Given the description of an element on the screen output the (x, y) to click on. 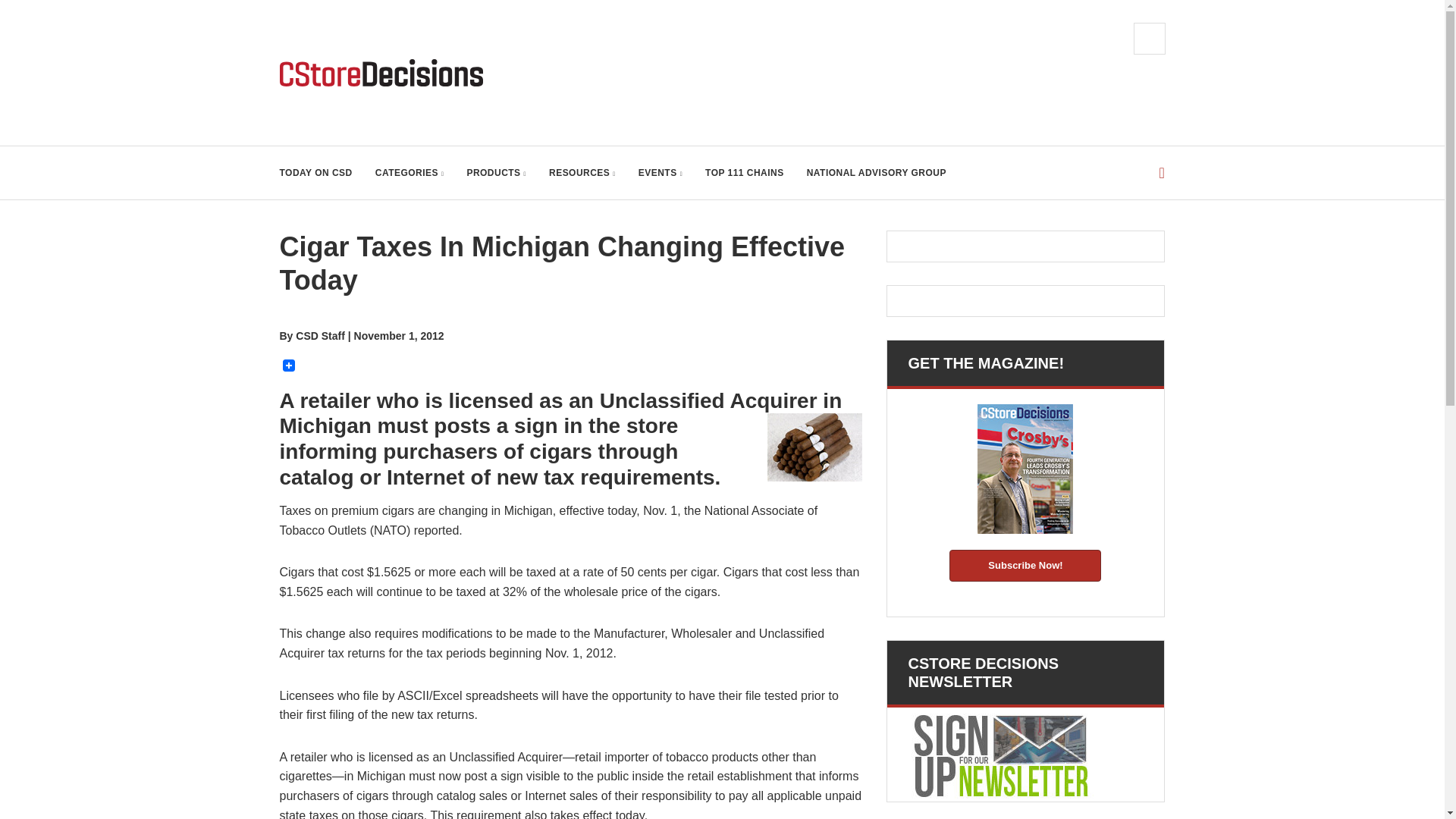
TOP 111 CHAINS (744, 172)
CStore Decisions (380, 72)
CATEGORIES (409, 172)
RESOURCES (581, 172)
PRODUCTS (495, 172)
cigars (814, 447)
TODAY ON CSD (315, 172)
